Given the description of an element on the screen output the (x, y) to click on. 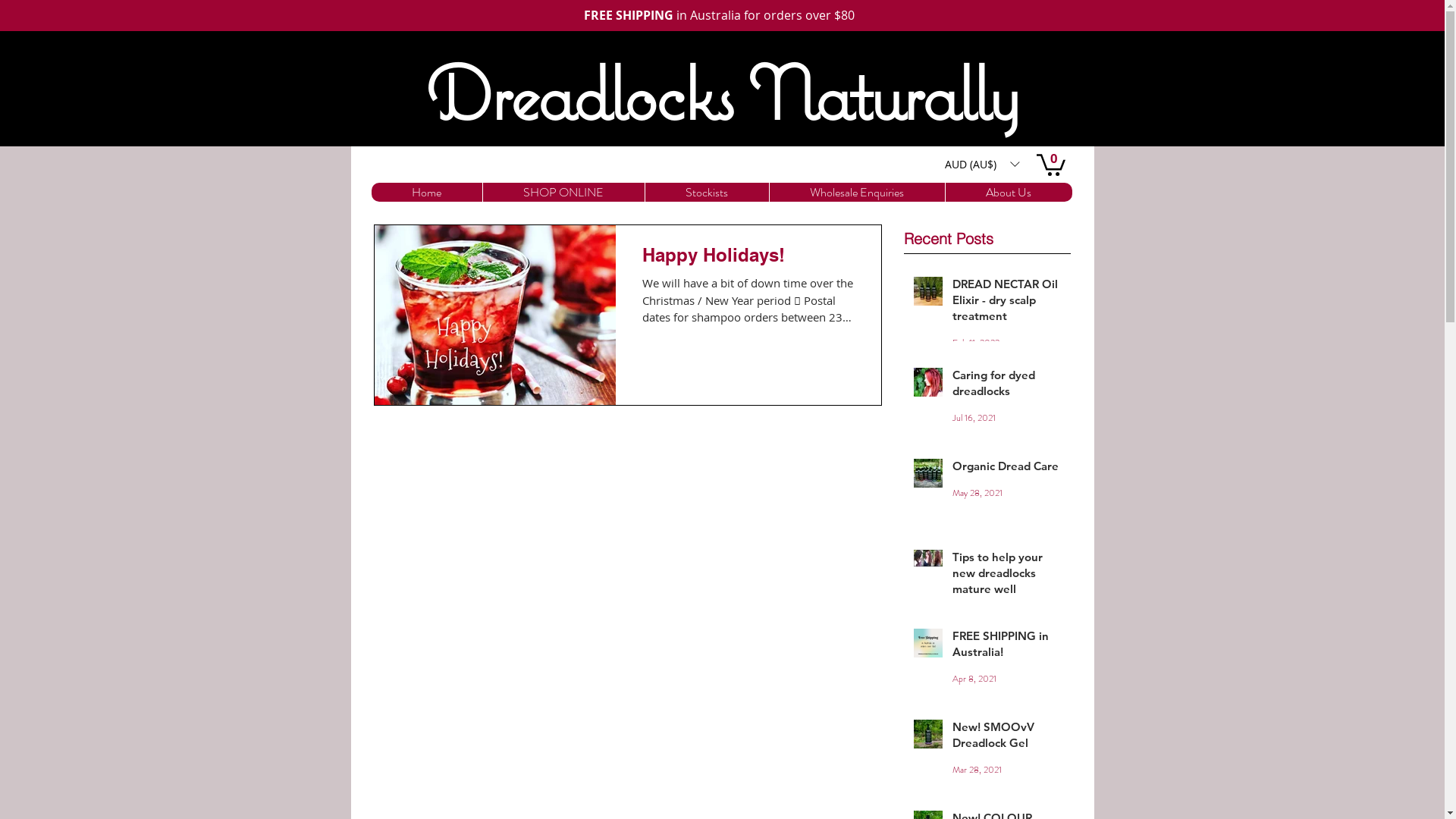
Wholesale Enquiries Element type: text (856, 191)
Stockists Element type: text (706, 191)
Organic Dread Care Element type: text (1006, 469)
0 Element type: text (1049, 163)
SHOP ONLINE Element type: text (563, 191)
FREE SHIPPING in Australia! Element type: text (1006, 646)
Dreadlocks Naturally Element type: text (721, 92)
AUD (AU$) Element type: text (981, 163)
Tips to help your new dreadlocks mature well Element type: text (1006, 575)
Home Element type: text (426, 191)
DREAD NECTAR Oil Elixir - dry scalp treatment Element type: text (1006, 302)
Happy Holidays! Element type: text (747, 258)
About Us Element type: text (1008, 191)
Caring for dyed dreadlocks Element type: text (1006, 385)
New! SMOOvV Dreadlock Gel Element type: text (1006, 737)
